Given the description of an element on the screen output the (x, y) to click on. 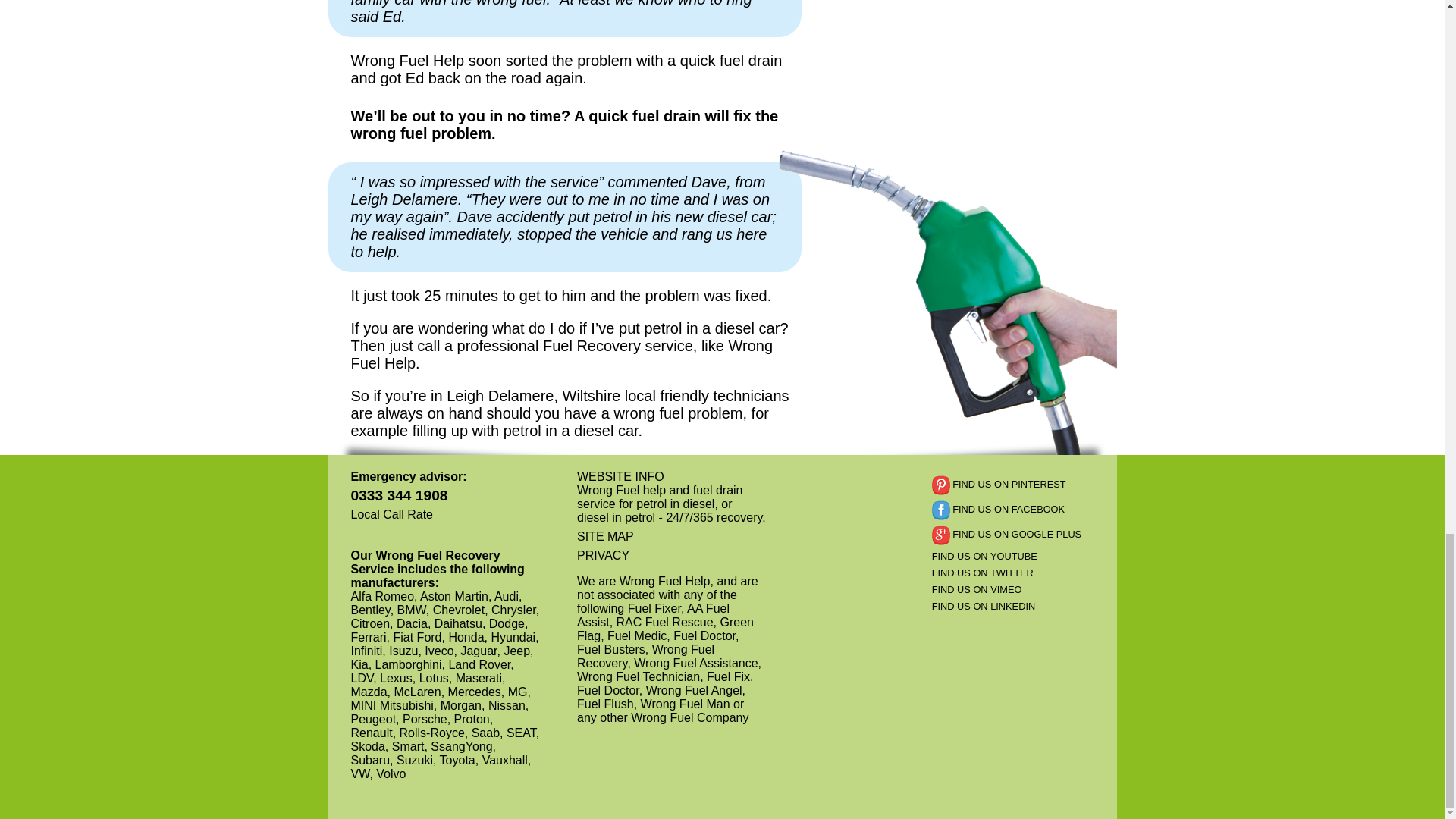
FIND US ON VIMEO (1018, 589)
FIND US ON PINTEREST (1018, 485)
SITE MAP (670, 536)
PRIVACY (670, 555)
FIND US ON GOOGLE PLUS (1018, 535)
FIND US ON FACEBOOK (1018, 510)
FIND US ON TWITTER (1018, 572)
FIND US ON LINKEDIN (1018, 605)
FIND US ON YOUTUBE (1018, 555)
